Given the description of an element on the screen output the (x, y) to click on. 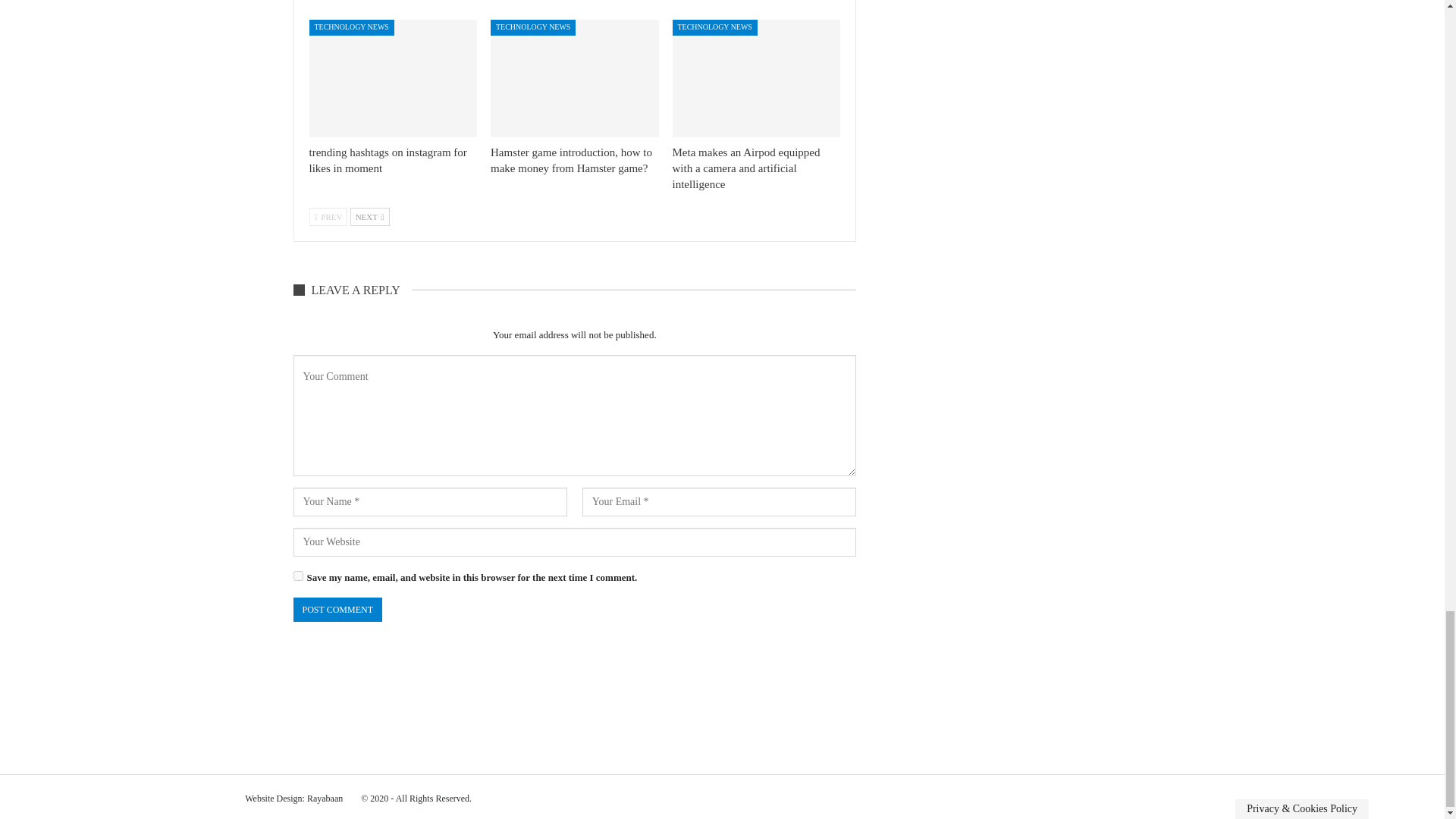
Post Comment (336, 609)
trending hashtags on instagram for likes in moment (392, 78)
trending hashtags on instagram for likes in moment (387, 160)
yes (297, 575)
